Given the description of an element on the screen output the (x, y) to click on. 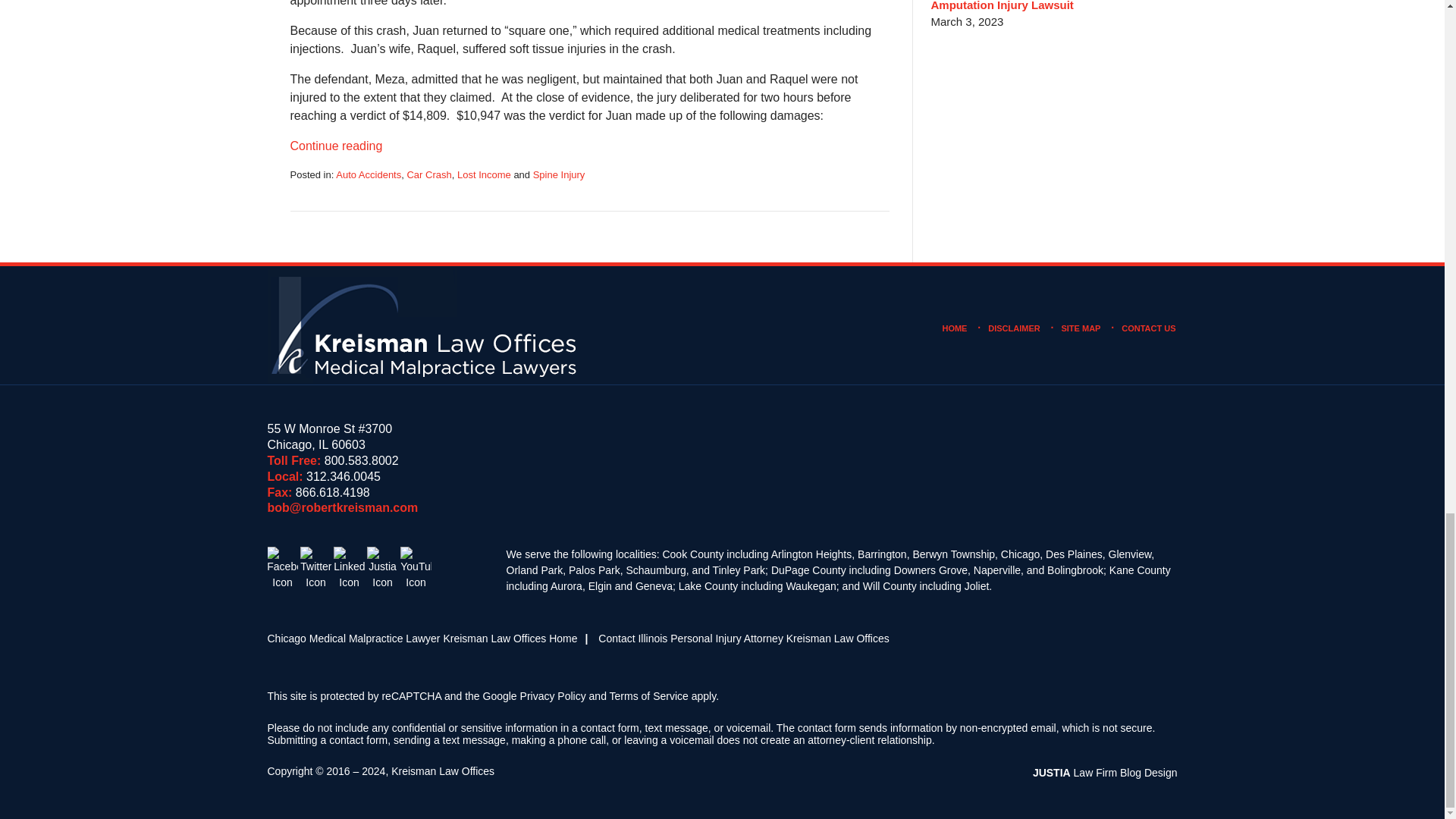
View all posts in Auto Accidents (368, 174)
View all posts in Spine Injury (558, 174)
View all posts in Lost Income (484, 174)
View all posts in Car Crash (428, 174)
